Given the description of an element on the screen output the (x, y) to click on. 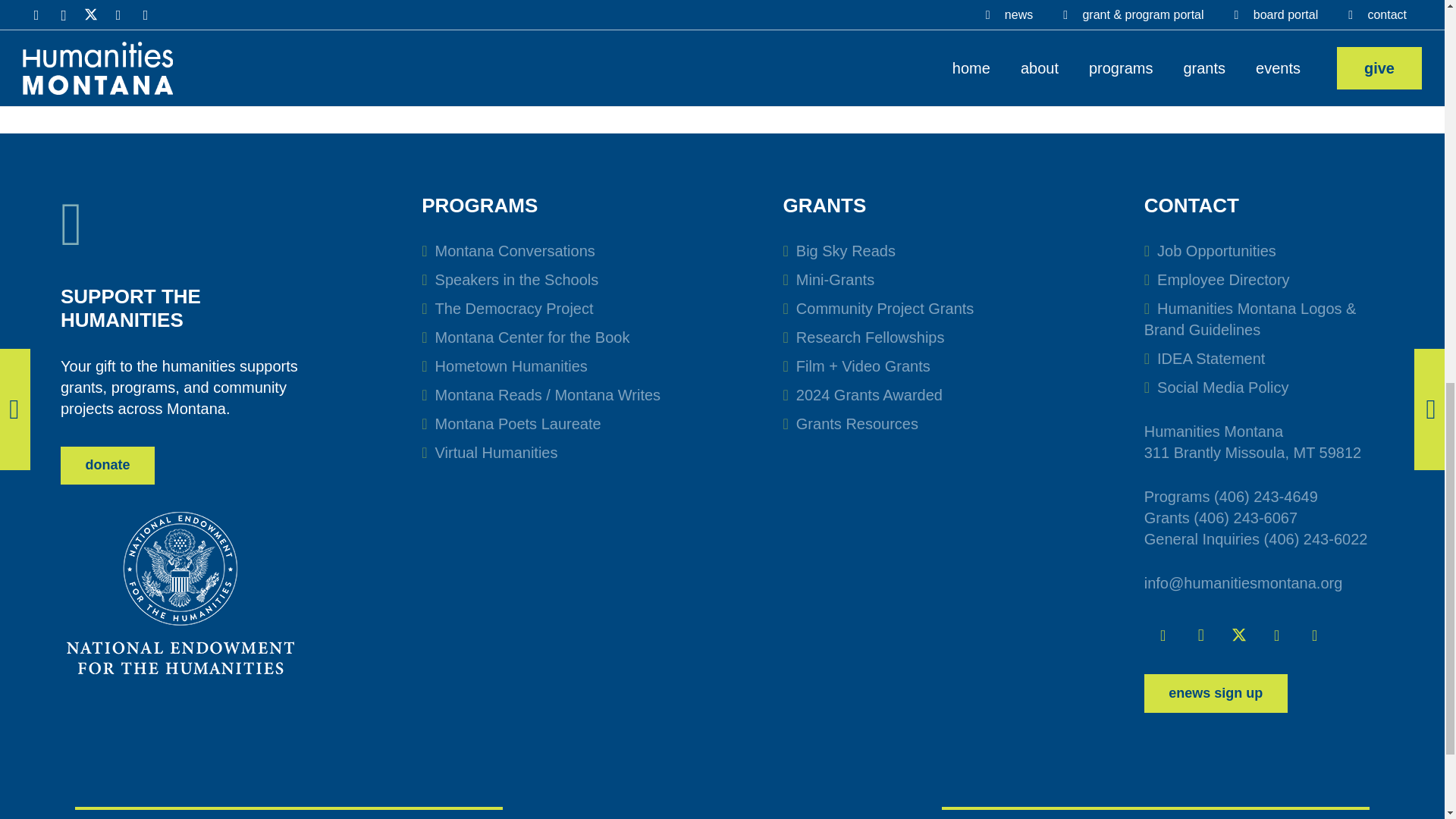
Instagram (1201, 635)
Flickr (1314, 635)
Donate (107, 465)
Facebook (1163, 635)
YouTube (1276, 635)
Twitter (1238, 635)
